Given the description of an element on the screen output the (x, y) to click on. 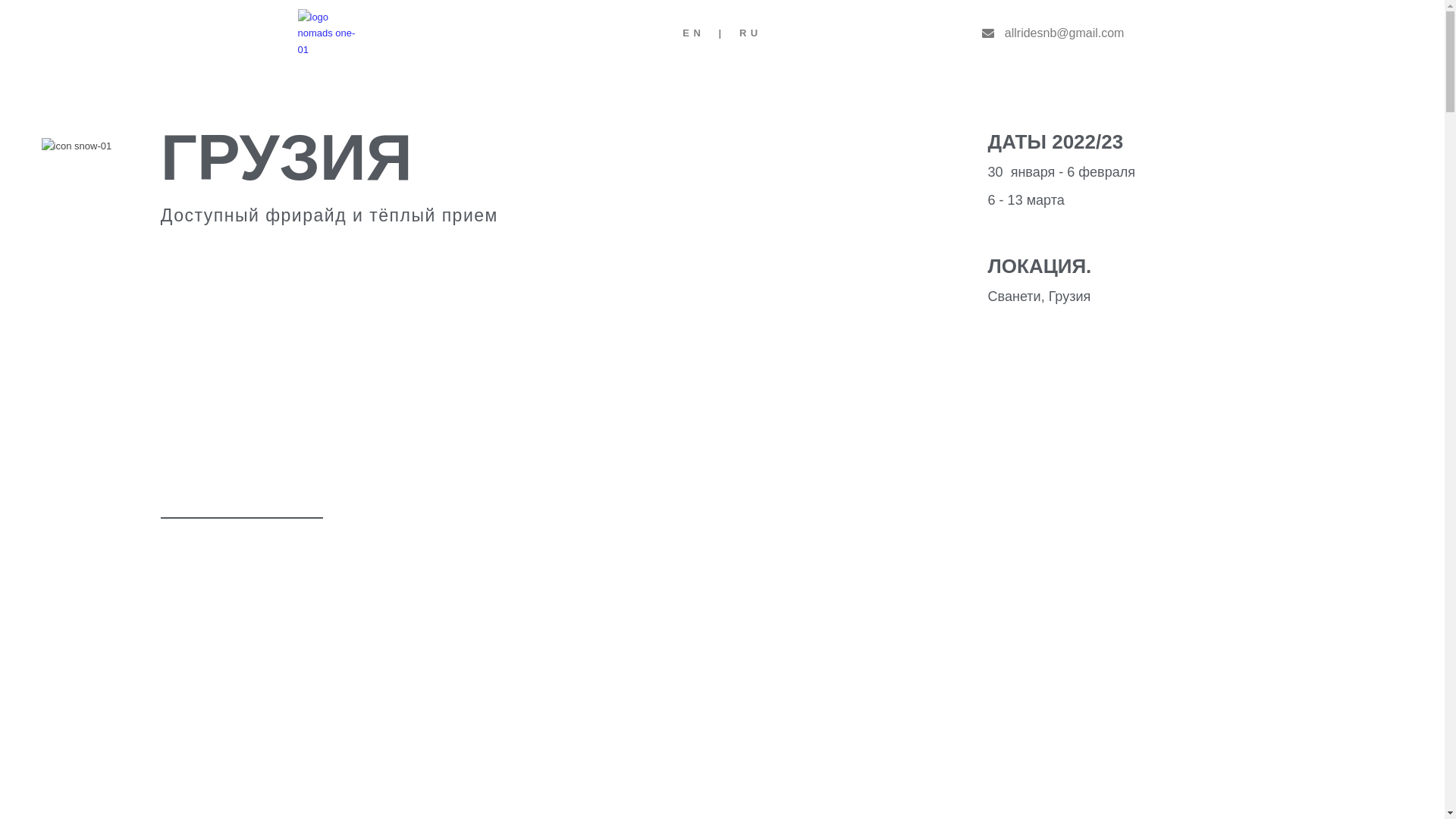
EN  Element type: text (696, 32)
RU Element type: text (750, 32)
allridesnb@gmail.com Element type: text (1053, 33)
icon snow-01 Element type: hover (76, 145)
logo nomads one-01 Element type: hover (326, 33)
